Given the description of an element on the screen output the (x, y) to click on. 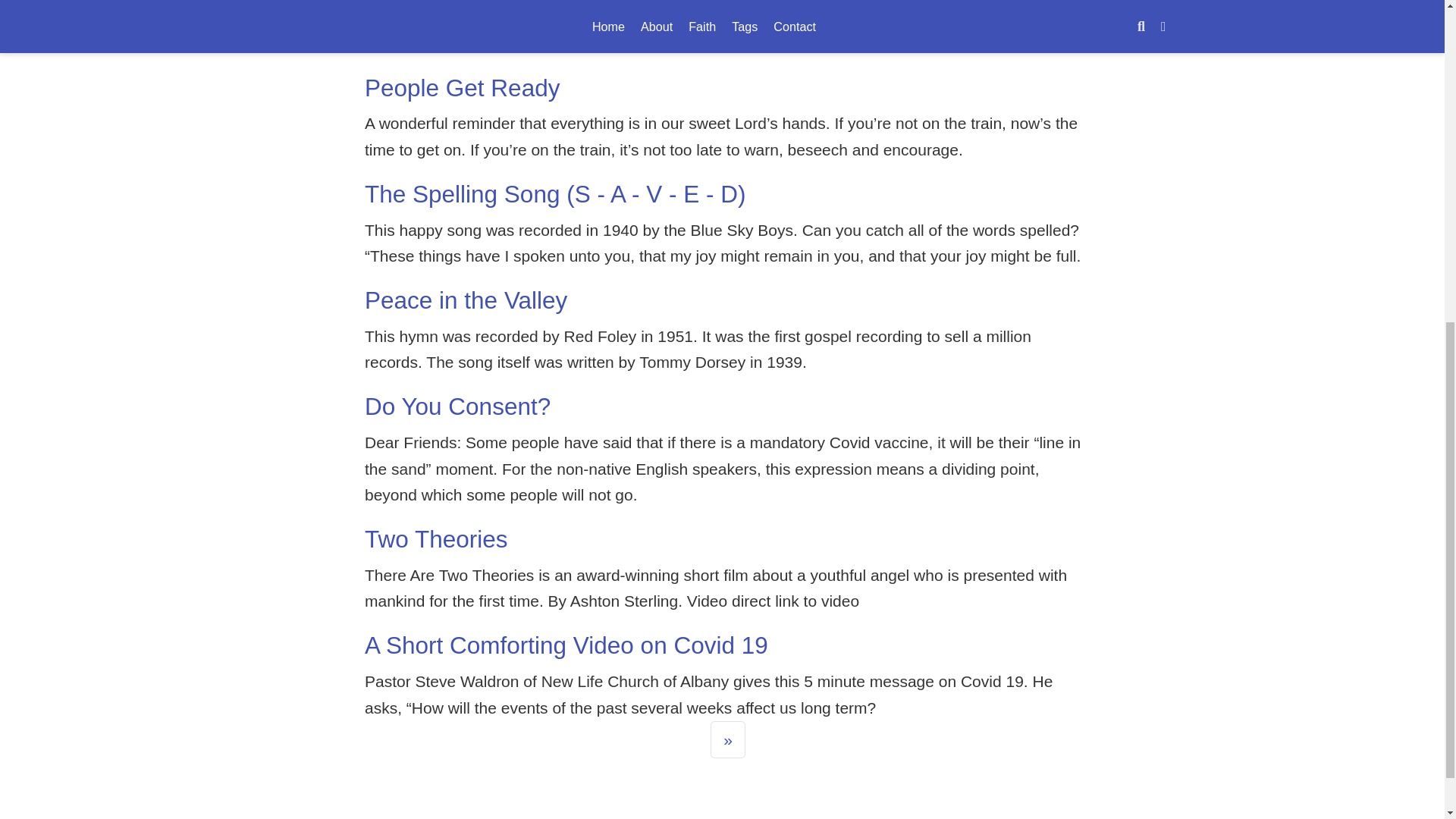
Two Theories (436, 538)
Do You Consent? (457, 406)
People Get Ready (462, 87)
A Short Comforting Video on Covid 19 (566, 645)
Peace in the Valley (466, 299)
